Given the description of an element on the screen output the (x, y) to click on. 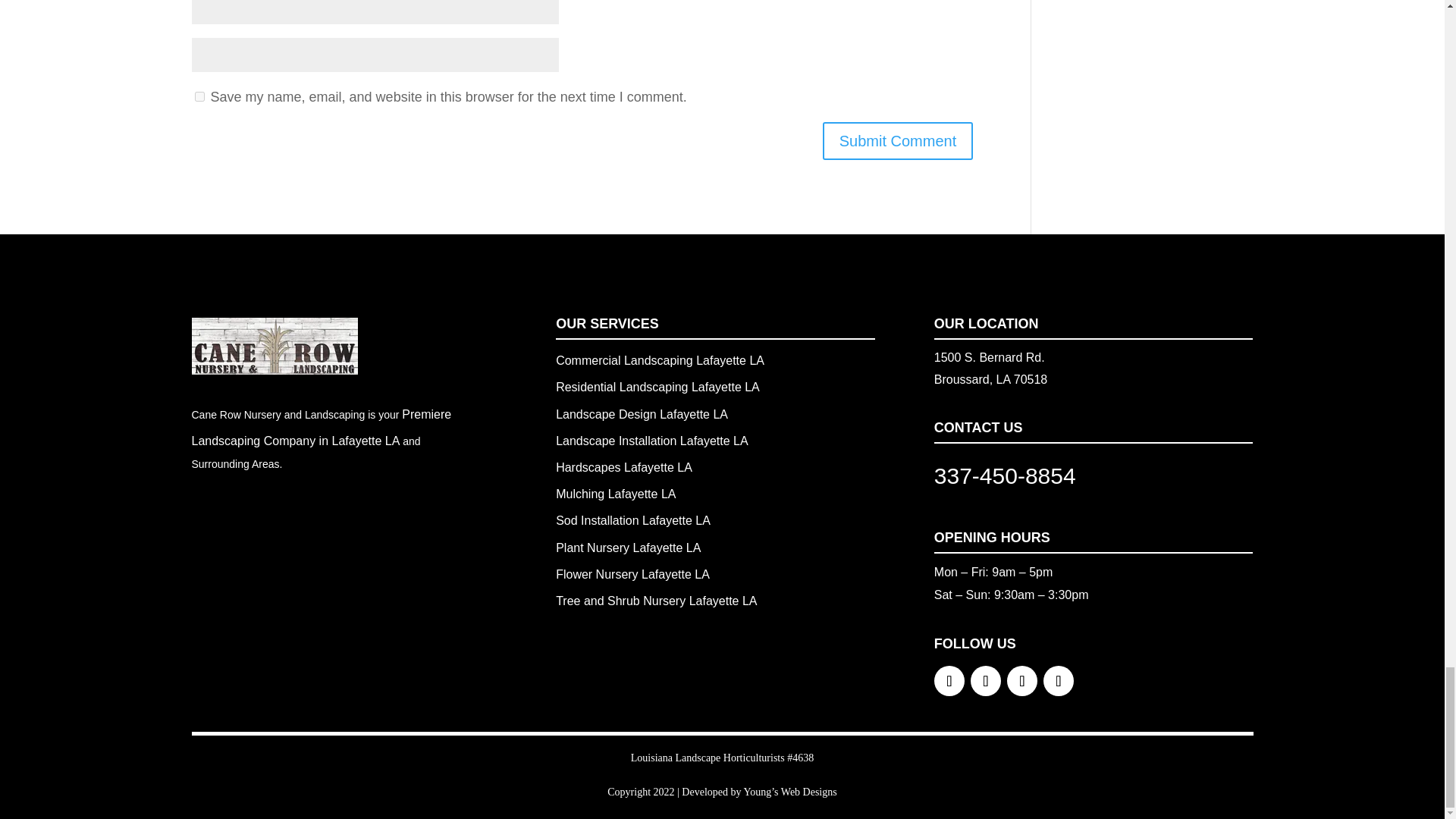
Cane Row Landscaping Lafayette LA Logo (273, 345)
yes (198, 96)
Follow on Instagram (1021, 680)
Follow on X (986, 680)
Follow on Youtube (1058, 680)
Submit Comment (898, 140)
Follow on Facebook (948, 680)
